Given the description of an element on the screen output the (x, y) to click on. 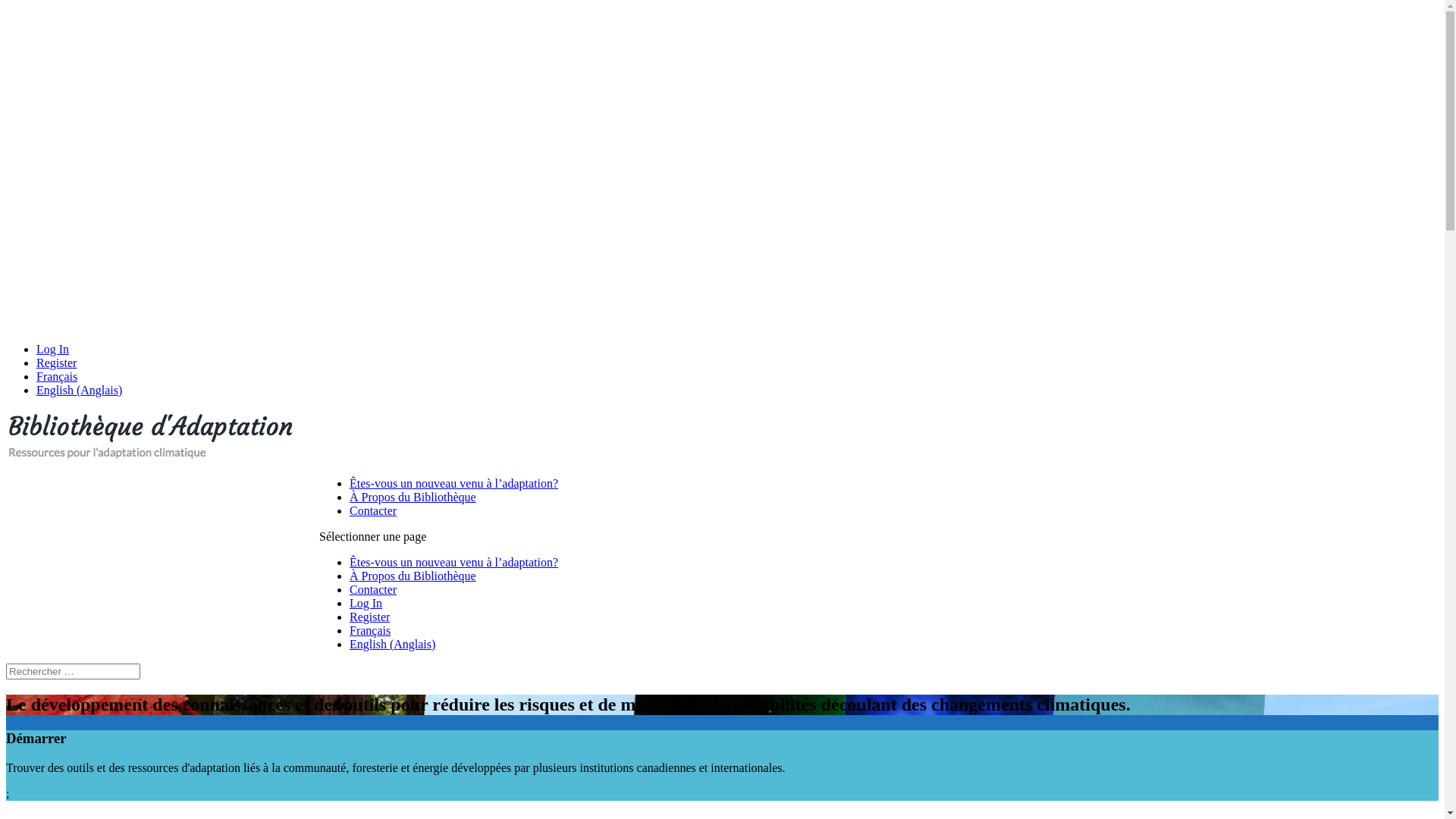
Log In Element type: text (365, 602)
Log In Element type: text (52, 348)
Register Element type: text (369, 616)
English (Anglais) Element type: text (392, 643)
Register Element type: text (56, 362)
Contacter Element type: text (372, 589)
; Element type: text (7, 793)
Contacter Element type: text (372, 510)
English (Anglais) Element type: text (79, 389)
Rechercher: Element type: hover (73, 671)
